Given the description of an element on the screen output the (x, y) to click on. 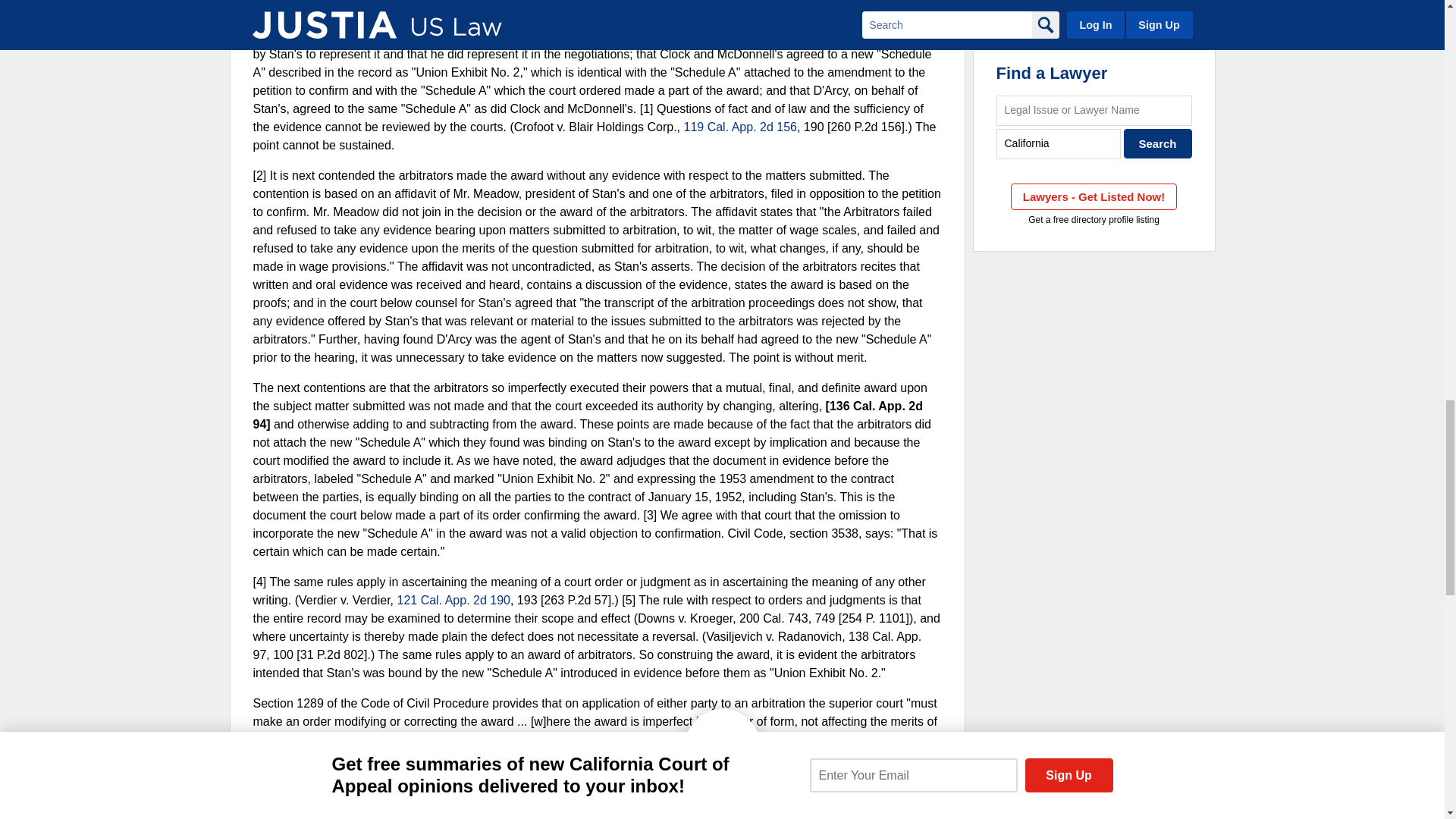
Search (1158, 143)
California (1058, 143)
Search (1158, 143)
119 Cal. App. 2d 156 (740, 126)
Legal Issue or Lawyer Name (1093, 110)
121 Cal. App. 2d 190 (454, 599)
City, State (1058, 143)
